Given the description of an element on the screen output the (x, y) to click on. 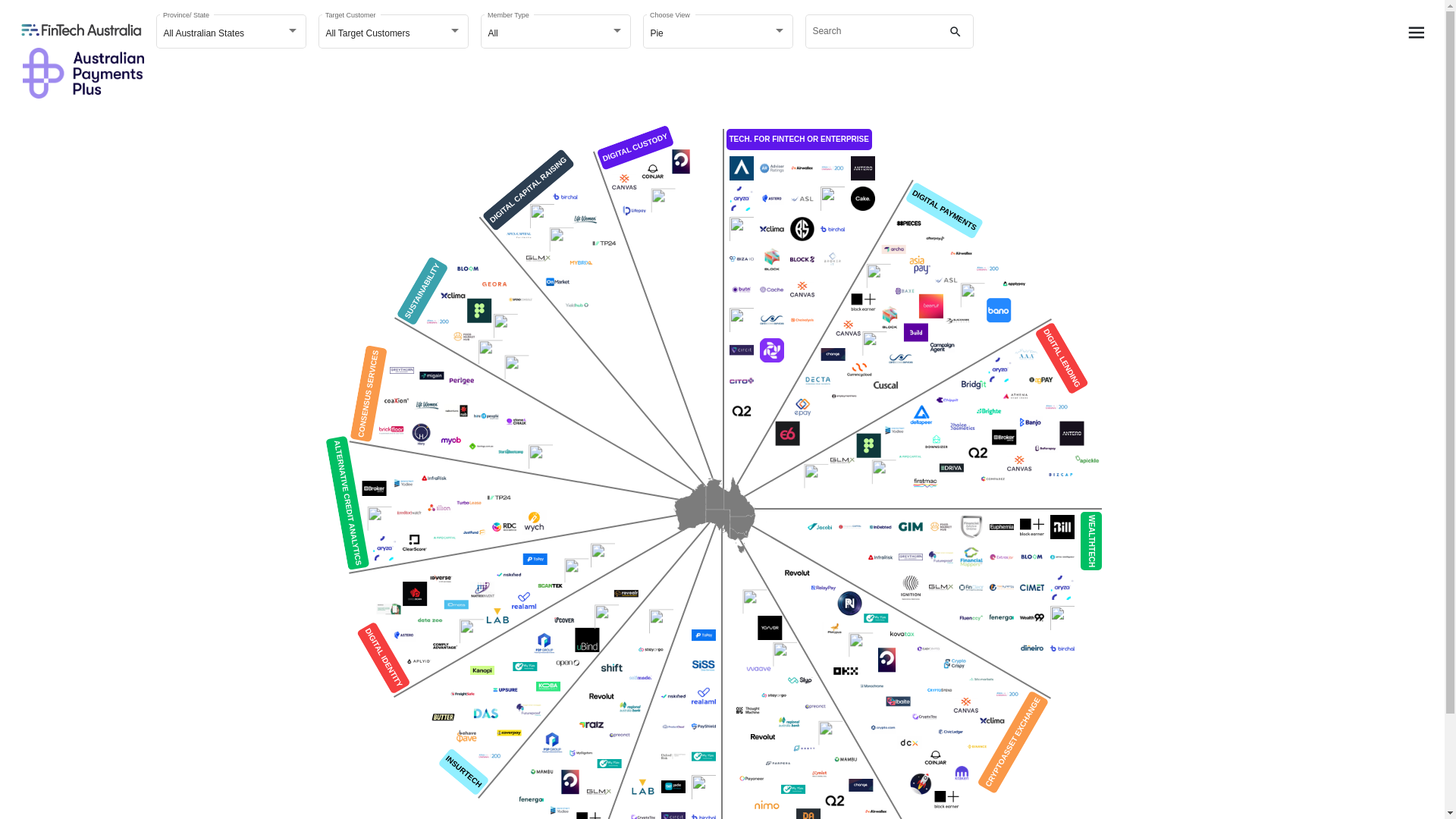
Betacarbon Pty Ltd Element type: hover (771, 228)
Foris GFS Australia Pty Ltd Element type: hover (882, 727)
Envestnet | Yodlee (Yodlee, Inc.) Element type: hover (403, 482)
V-Key Pte Ltd Element type: hover (784, 654)
Blackhawk Network (Australia) Pty Ltd Element type: hover (956, 321)
Elbaite Element type: hover (897, 701)
FMH Holding Pty Ltd Element type: hover (940, 526)
1Bill Element type: hover (1061, 526)
CANVAS Element type: hover (965, 705)
Fenergo Limited Element type: hover (1000, 617)
Futureproof Financial Group Limited Element type: hover (940, 557)
Perigee Advisers Pty Ltd Element type: hover (460, 381)
Fenergo Limited Element type: hover (531, 799)
Allens Element type: hover (1056, 407)
Australian Settlements Limited (ASL) Element type: hover (945, 279)
CoinJar Element type: hover (652, 171)
Citoplus Element type: hover (741, 380)
Block Earner Element type: hover (946, 799)
Fluenccy Element type: hover (970, 617)
My Plan Group Pty Ltd Element type: hover (524, 666)
Fresh Supply Co Pty Ltd Element type: hover (868, 445)
Fundabl Element type: hover (883, 471)
RealAML Australia Pty Ltd Element type: hover (703, 695)
Startupbootcamp Element type: hover (510, 451)
Taxcapture Limited Element type: hover (662, 200)
My Plan Group Pty Ltd Element type: hover (608, 763)
Revolut Payments Australia Pty Ltd Element type: hover (796, 573)
FinClear Pty Ltd Element type: hover (970, 587)
Athena Home Loans Element type: hover (1014, 395)
Platypus Terminal Element type: hover (834, 629)
COVERPAY PTY LTD Element type: hover (508, 732)
Wordflow Pty Ltd Element type: hover (625, 593)
Bano Pty Ltd Element type: hover (998, 309)
Layer 8 networks Pty Ltd Element type: hover (886, 659)
Regional Australia Bank Element type: hover (788, 721)
AplyID Pty Ltd Element type: hover (418, 661)
Applypay Element type: hover (1013, 284)
Butter Insurance Element type: hover (442, 717)
Astero Element type: hover (403, 635)
Basiq Element type: hover (877, 275)
Bloom Impact Investing Element type: hover (467, 269)
Infrarisk Element type: hover (879, 557)
Payshield Technology Pty Ltd Element type: hover (703, 726)
Thought Machine Element type: hover (747, 710)
Astero Element type: hover (771, 198)
Feesynergy Finance Pty Ltd Element type: hover (1000, 587)
ExtrasJar Element type: hover (1000, 557)
Cache Investment Management Pty Ltd Element type: hover (771, 289)
Indebted Element type: hover (879, 526)
Cape Pty Ltd Element type: hover (741, 319)
Bake That Cake Pty Ltd Element type: hover (862, 198)
My Plan Group Pty Ltd Element type: hover (793, 789)
Good For B Element type: hover (815, 476)
OKX Element type: hover (845, 670)
Yondr Money Pty Ltd Element type: hover (769, 627)
Banjo Loans Element type: hover (1029, 422)
GLMX Element type: hover (841, 460)
choice cosmetics Element type: hover (962, 426)
Chippit Element type: hover (946, 400)
Australian Settlements Limited (ASL) Element type: hover (802, 198)
Cryptospend Pty Ltd Element type: hover (939, 689)
Brokerit Pty Ltd Element type: hover (832, 259)
ProductCloud Element type: hover (673, 726)
Financial Advice Online (Plencore Wealth Ltd) Element type: hover (970, 526)
Change Financial Limited Element type: hover (832, 354)
Antero Software Element type: hover (862, 168)
CANVAS Element type: hover (802, 289)
Apickle Element type: hover (1086, 459)
Knote Group Aus Pty Ltd Element type: hover (561, 239)
Brickfloor Pty Ltd Element type: hover (391, 430)
Afterpay Australia Pty Ltd Element type: hover (934, 238)
Big Start Element type: hover (802, 228)
Bridgit Element type: hover (973, 385)
Illion Element type: hover (438, 507)
Behave And Save Element type: hover (466, 736)
CANVAS Element type: hover (847, 328)
Employment Hero Pty Ltd Element type: hover (843, 395)
CLOUD LENDING AUSTRALIA PTY LTD Element type: hover (834, 800)
Cuscal Element type: hover (884, 385)
CANVAS Element type: hover (623, 181)
Episode Six Inc. Element type: hover (786, 433)
Lab Group Element type: hover (642, 786)
Data Zoo Element type: hover (429, 620)
Civic Ledger Element type: hover (950, 731)
Downsizer Element type: hover (935, 441)
Yieldhub Element type: hover (576, 305)
My Plan Group Pty Ltd Element type: hover (703, 756)
On-Market Bookbuilds Pty Ltd Element type: hover (557, 281)
Orbyt Corporation Pty Ltd Element type: hover (803, 748)
ClearScore Australia Pty Ltd Element type: hover (413, 542)
Circit Element type: hover (741, 350)
Payoneer Australia Element type: hover (751, 778)
Jacobi Strategies Element type: hover (818, 526)
Euphemia Management Pty Ltd Element type: hover (1000, 526)
Aaa Money Element type: hover (1025, 354)
Nab Ventures Element type: hover (455, 410)
Adviser Ratings Pty Ltd Element type: hover (771, 168)
Agpay Pty Ltd Element type: hover (1041, 380)
Technical Innovation Pty Ltd Element type: hover (586, 639)
Baxe Element type: hover (904, 291)
Open Insurance Technologies Pty Ltd Element type: hover (567, 663)
Comply Advantage Element type: hover (444, 645)
Stay Or Go Element type: hover (650, 649)
Vaulted Ventures Pty Limited Element type: hover (606, 616)
GLMX Element type: hover (940, 587)
88 Pieces Pty Ltd Element type: hover (908, 223)
Regional Australia Bank Element type: hover (630, 706)
Lab Group Element type: hover (497, 615)
GLMX Element type: hover (537, 258)
Kanopi Element type: hover (482, 670)
Precinct Element type: hover (619, 735)
Beem-It (Former Digital Wallet Pty) Element type: hover (930, 306)
ToPay Fintech Pty Ltd Element type: hover (703, 635)
Fresh Supply Co Pty Ltd Element type: hover (479, 310)
Mambu Australia Pty Ltd Element type: hover (845, 758)
Aryza Element type: hover (999, 369)
Broker.Com.Au Pty Ltd Element type: hover (1003, 437)
Mist Financial Pty Ltd Element type: hover (818, 774)
Firstmac Element type: hover (925, 482)
Block Inc. Element type: hover (771, 259)
Wych Australia Pty Ltd Element type: hover (533, 521)
Monochrome Asset Management Element type: hover (871, 686)
Infrarisk Element type: hover (433, 477)
Layer 8 networks Pty Ltd Element type: hover (570, 781)
Audacity Ventures Element type: hover (1061, 617)
Financial Mappers (Plencore Wealth Ltd) Element type: hover (970, 557)
Frankie Financial Pty Ltd Element type: hover (703, 786)
Coaxion Element type: hover (396, 400)
Block Earner Element type: hover (1031, 526)
Dineiro Pty Ltd Element type: hover (1031, 648)
Beforepay Element type: hover (1044, 448)
Btc Markets Pty Ltd Element type: hover (980, 679)
V-Key Pte Ltd Element type: hover (576, 570)
Tradeplus24 Element type: hover (603, 243)
Aryza Element type: hover (741, 198)
Stone & Chalk Element type: hover (515, 421)
Matrix Invent Australia Pty Ltd Element type: hover (482, 589)
Shaad Group Pty Ltd Element type: hover (485, 416)
Ziksu Capital Ltd Element type: hover (516, 366)
JustFund Element type: hover (473, 532)
CoinJar Element type: hover (934, 758)
Citadel Element type: hover (771, 350)
ToPay Fintech Pty Ltd Element type: hover (534, 559)
Liftwomen Group Element type: hover (584, 219)
Binance (Investbybit Pty Ltd) Element type: hover (976, 746)
Pay It Now Aus PTY LTD Element type: hover (849, 603)
Comparez Element type: hover (992, 479)
Currency Cloud Element type: hover (859, 369)
Fifo Capital Australia Element type: hover (909, 456)
Chainalysis Element type: hover (802, 319)
Koba Insurance Element type: hover (548, 686)
Azupay Trading Pty Ltd Element type: hover (972, 294)
Allens Element type: hover (488, 755)
Jade Software Element type: hover (673, 786)
AsiaPay Australia Element type: hover (919, 264)
Bizcap Element type: hover (1059, 474)
Futureproof Financial Group Limited Element type: hover (528, 709)
CLOUD LENDING AUSTRALIA PTY LTD Element type: hover (741, 410)
Digital Agriculture Services Pty Ltd Element type: hover (485, 713)
Antero Software Element type: hover (1071, 433)
Greythorn Asset Management Element type: hover (909, 557)
Mambu Australia Pty Ltd Element type: hover (541, 771)
EFX Global Pty Ltd Element type: hover (912, 674)
Nuvei Limited Element type: hover (860, 644)
Liftwomen Group Element type: hover (426, 405)
Easy Crypto Australia Element type: hover (928, 648)
CANVAS Element type: hover (1019, 463)
Biza Pty Ltd Element type: hover (741, 259)
Azupay Trading Pty Ltd Element type: hover (832, 198)
Airwallex Pty Ltd Element type: hover (802, 168)
Good For B Element type: hover (489, 351)
Nuvei Limited Element type: hover (504, 325)
Coinspot Element type: hover (919, 783)
Aryza Element type: hover (384, 548)
Cape Pty Ltd Element type: hover (874, 343)
Basiq Element type: hover (379, 518)
Advice Intelligence Element type: hover (1061, 557)
Rich Data Corporation Australia Element type: hover (504, 526)
Campaignagent Element type: hover (941, 347)
Change Financial Limited Element type: hover (860, 785)
Dacxi Pty Limited Element type: hover (1031, 617)
Allens Element type: hover (832, 168)
Airwallex Pty Ltd Element type: hover (960, 253)
Global Investment Marketing Pty Ltd Element type: hover (909, 526)
Decta Limited Element type: hover (817, 380)
Spendconsole Element type: hover (520, 299)
Fifo Capital Australia Element type: hover (444, 537)
Birchal Element type: hover (564, 196)
Block Earner Element type: hover (862, 301)
Aryza Element type: hover (1061, 587)
Epay Australia Pty Ltd Element type: hover (802, 407)
Migain Element type: hover (431, 375)
Deltapeer Element type: hover (920, 415)
RealAML Australia Pty Ltd Element type: hover (523, 600)
Precinct Element type: hover (815, 706)
Block8 Technologies Element type: hover (802, 259)
Relaypay Element type: hover (822, 588)
upcover Element type: hover (563, 620)
Riskified Element type: hover (508, 574)
Layer 8 networks Pty Ltd Element type: hover (680, 161)
Audacity Ventures Element type: hover (541, 215)
Allens Element type: hover (987, 269)
Freightsafe Element type: hover (462, 693)
GLMX Element type: hover (598, 792)
Mygigsters Element type: hover (580, 753)
Nuvei Limited Element type: hover (830, 733)
FMH Holding Pty Ltd Element type: hover (463, 336)
BIT TRADE PTY LIMITED (Kraken Digital Asset Exchange) Element type: hover (961, 773)
CLOUD LENDING AUSTRALIA PTY LTD Element type: hover (977, 452)
Birchal Element type: hover (832, 228)
CryptoCrispy Element type: hover (954, 664)
Kova Tax Element type: hover (901, 633)
IDVerse Element type: hover (440, 578)
Ignition Advice Element type: hover (909, 587)
Archa Limited Element type: hover (893, 249)
Riskified Element type: hover (673, 695)
Betacarbon Pty Ltd Element type: hover (991, 720)
Myob Element type: hover (450, 440)
Hnry Element type: hover (420, 435)
Idmeta Pty Ltd Element type: hover (455, 604)
Birchal Element type: hover (1061, 648)
Block Inc. Element type: hover (889, 316)
My Plan Group Pty Ltd Element type: hover (875, 618)
Ziksu Capital Ltd Element type: hover (754, 601)
Oxford Risk Element type: hover (673, 756)
Greythorn Asset Management Element type: hover (401, 370)
Stay Or Go Element type: hover (773, 695)
Envestnet | Yodlee (Yodlee, Inc.) Element type: hover (894, 430)
Shift Financial Pty Ltd Element type: hover (611, 667)
Hubspoke Insurance Pty Ltd T/As Upsure Element type: hover (504, 689)
CTC Ledger Pty Ltd Element type: hover (924, 716)
Waave Element type: hover (758, 669)
Apex Capital Partner Element type: hover (518, 235)
SISS DATA SERVICES Element type: hover (703, 665)
Brighte Element type: hover (988, 410)
Allens Element type: hover (437, 321)
Betacarbon Pty Ltd Element type: hover (452, 295)
Bloom Impact Investing Element type: hover (1031, 557)
Driva Pty Ltd Element type: hover (950, 467)
Card Access Services Pty Ltd Element type: hover (771, 319)
Taxcapture Limited Element type: hover (661, 620)
Geora Pty Limited Element type: hover (494, 284)
Accurassi Element type: hover (741, 168)
Broker.Com.Au Pty Ltd Element type: hover (373, 488)
Vaulted Ventures Pty Limited Element type: hover (602, 554)
P2P Group Element type: hover (551, 743)
Slyp Element type: hover (799, 680)
Parpera Element type: hover (777, 763)
Revolut Payments Australia Pty Ltd Element type: hover (762, 736)
CIMET Sales Pty Ltd Element type: hover (1031, 587)
Frankie Financial Pty Ltd Element type: hover (470, 630)
Allens Element type: hover (1006, 694)
Selfmade Super Financial Services Element type: hover (639, 677)
Butn Co Pty Limited Element type: hover (741, 289)
Chain Collective Pty Ltd Element type: hover (388, 608)
Integratedcapital Pty Ltd Element type: hover (849, 526)
Revolut Payments Australia Pty Ltd Element type: hover (601, 695)
DeCX Pty Ltd Element type: hover (909, 743)
Card Access Services Pty Ltd Element type: hover (899, 358)
Lifepay Pty Ltd Element type: hover (633, 210)
Basiq Element type: hover (741, 228)
BUILD BAAS PTY LTD Element type: hover (915, 331)
Trpilot Pty Limited Element type: hover (540, 456)
Scantek Solutions Element type: hover (549, 585)
Raiz Invest Australia Limited Element type: hover (590, 724)
Tradeplus24 Element type: hover (498, 497)
TeckCraft Element type: hover (580, 262)
Savings.Com.Au Element type: hover (480, 445)
Creditor Watch Pty Ltd Element type: hover (408, 513)
Next AI Element type: hover (468, 502)
P2P Group Element type: hover (544, 643)
Docuscan Australia Pty Ltd Element type: hover (414, 593)
